Given the description of an element on the screen output the (x, y) to click on. 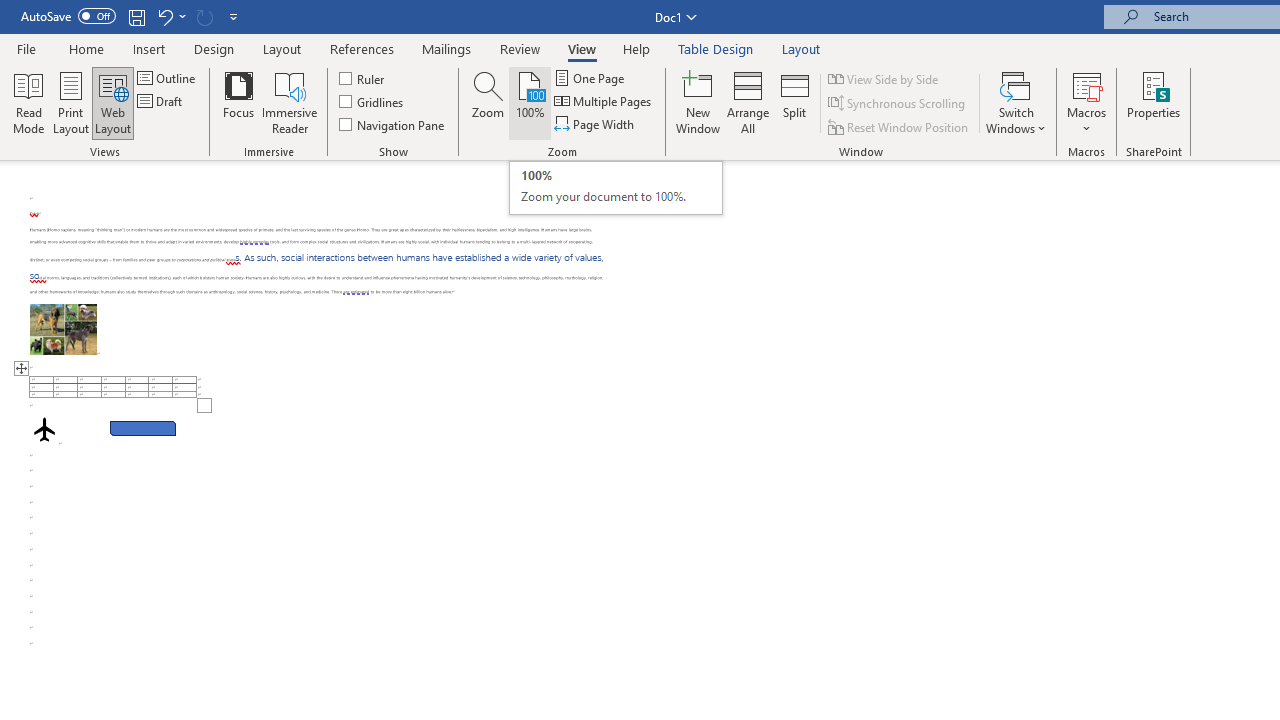
Focus (238, 102)
Gridlines (372, 101)
Immersive Reader (289, 102)
View Side by Side (884, 78)
Draft (161, 101)
Navigation Pane (392, 124)
Macros (1086, 102)
New Window (698, 102)
